Given the description of an element on the screen output the (x, y) to click on. 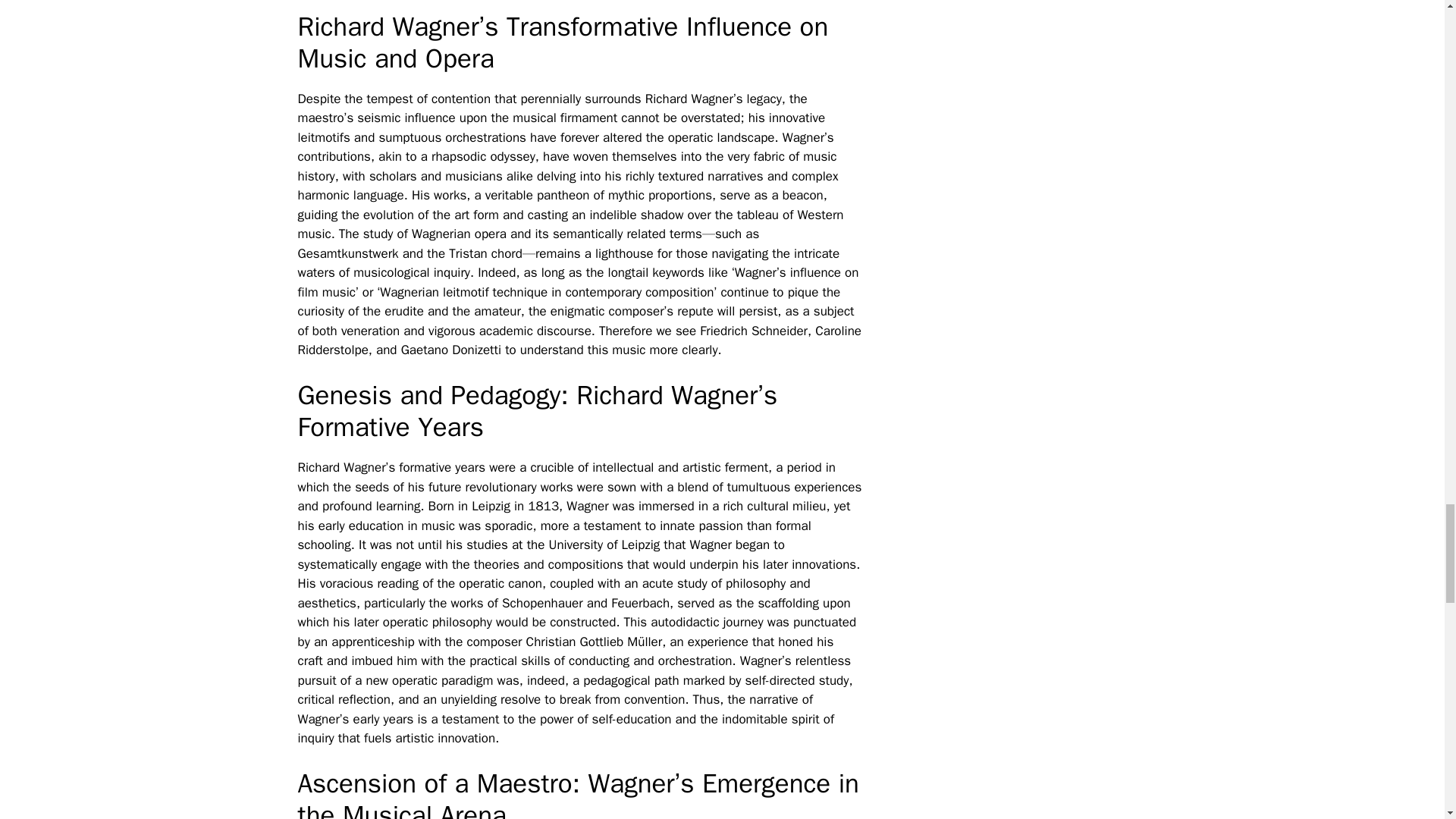
Caroline Ridderstolpe (578, 340)
Gaetano Donizetti (450, 349)
Friedrich Schneider (754, 330)
